Given the description of an element on the screen output the (x, y) to click on. 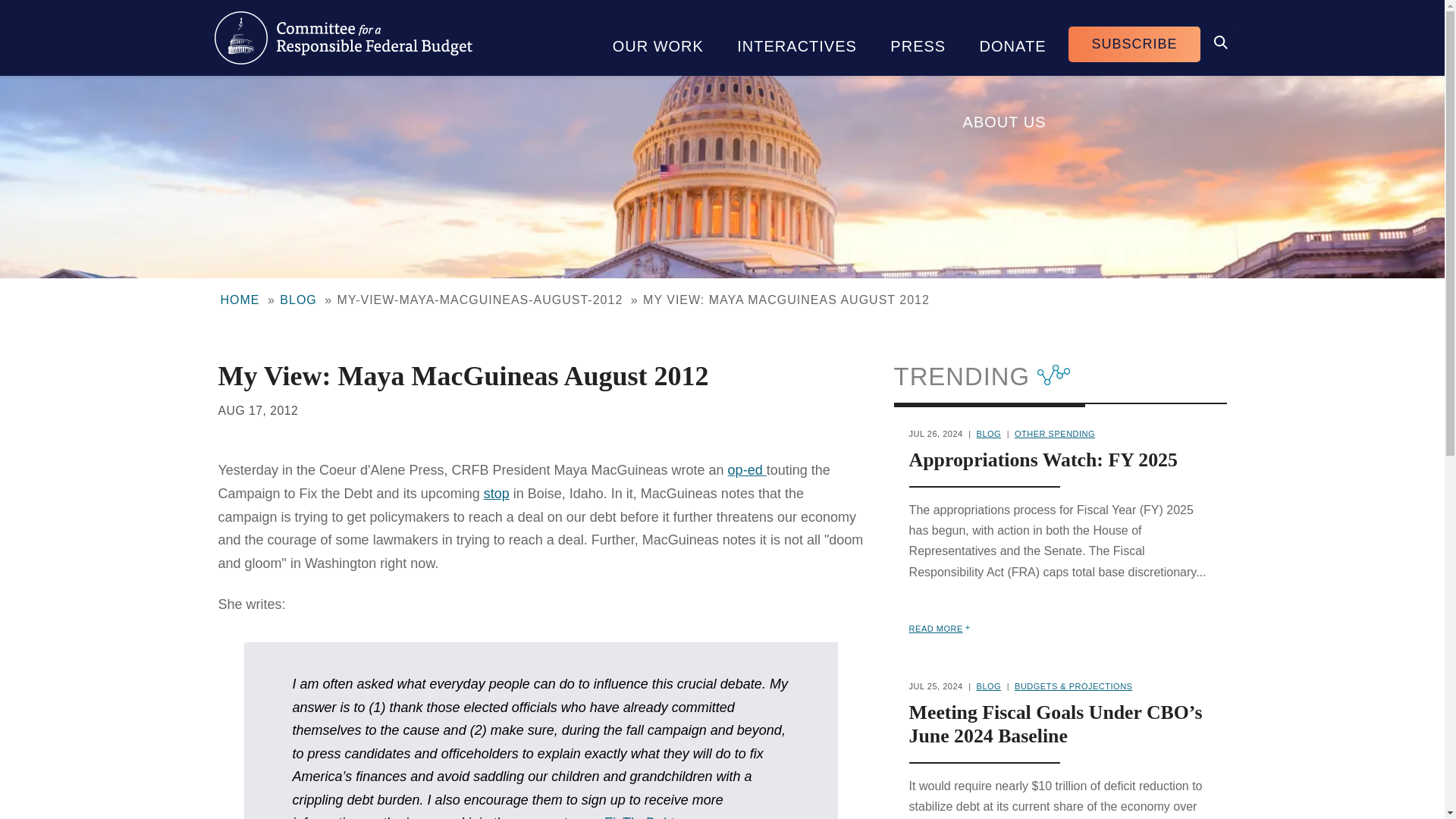
Committee for a Responsible Federal Budget (342, 37)
DONATE (1012, 38)
OUR WORK (657, 38)
PRESS (917, 38)
ABOUT US (1004, 113)
INTERACTIVES (797, 38)
